Given the description of an element on the screen output the (x, y) to click on. 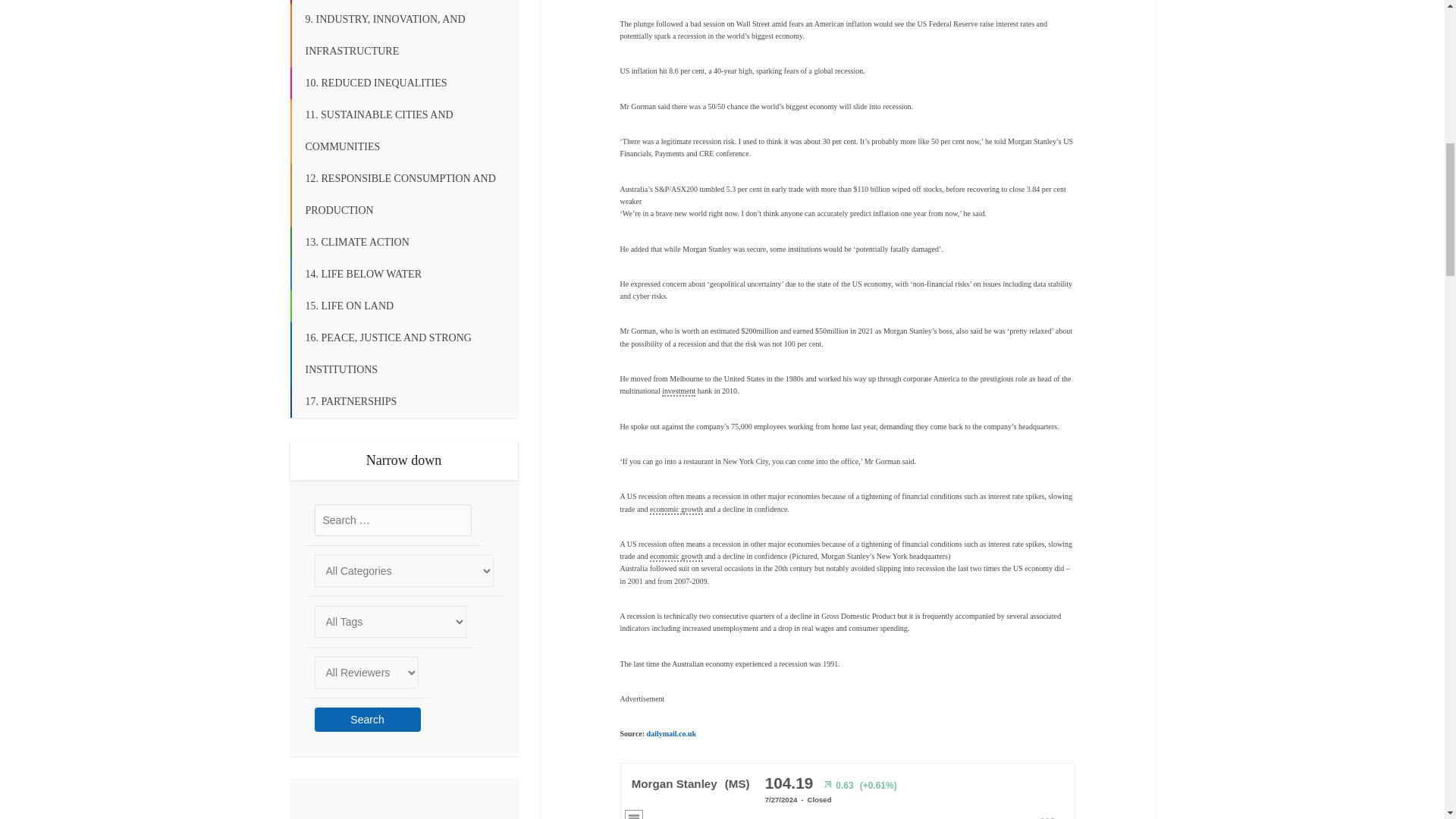
Search (367, 719)
